Given the description of an element on the screen output the (x, y) to click on. 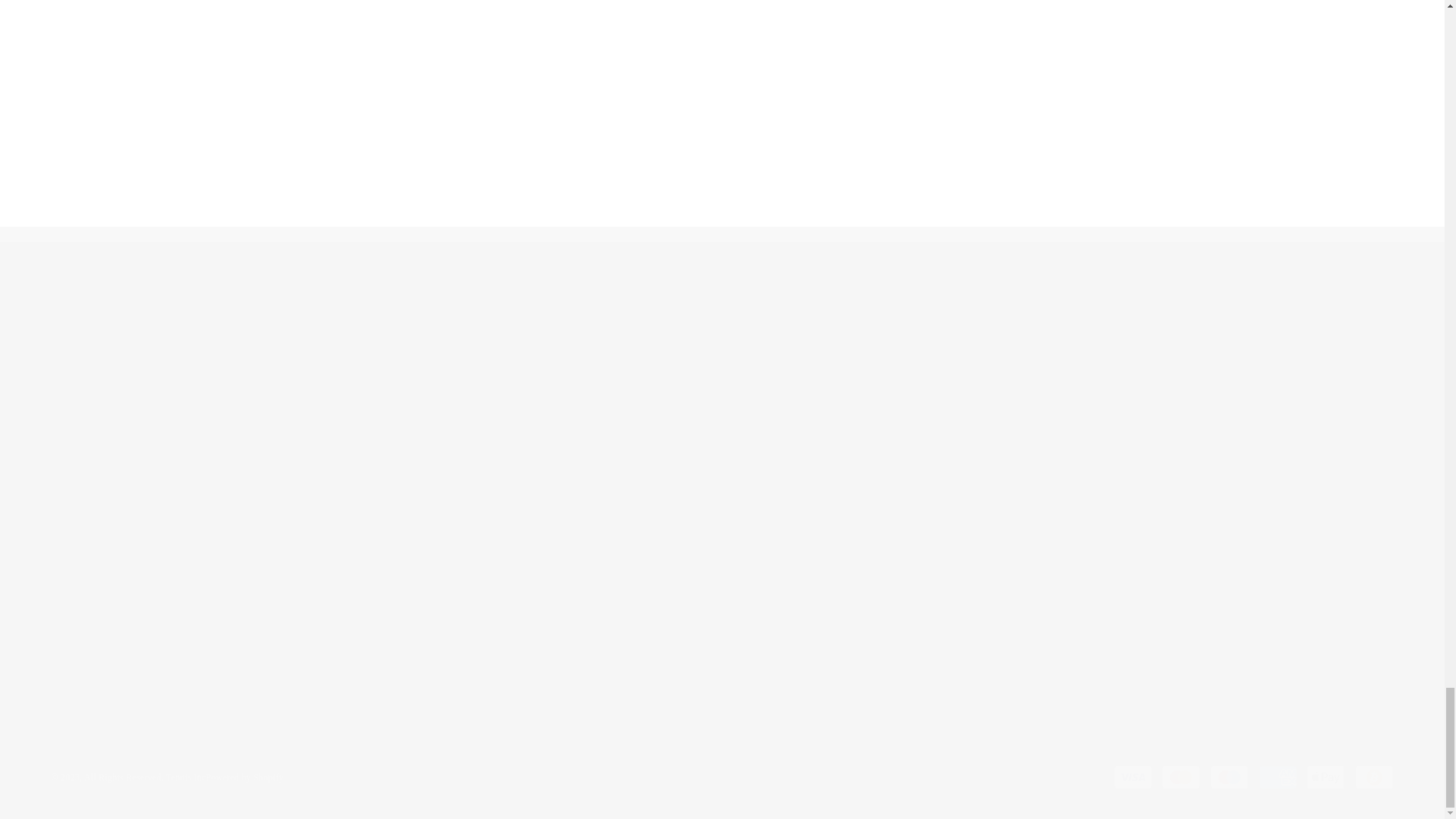
Mastercard (1180, 776)
Visa (1132, 776)
Maestro (1229, 776)
